Given the description of an element on the screen output the (x, y) to click on. 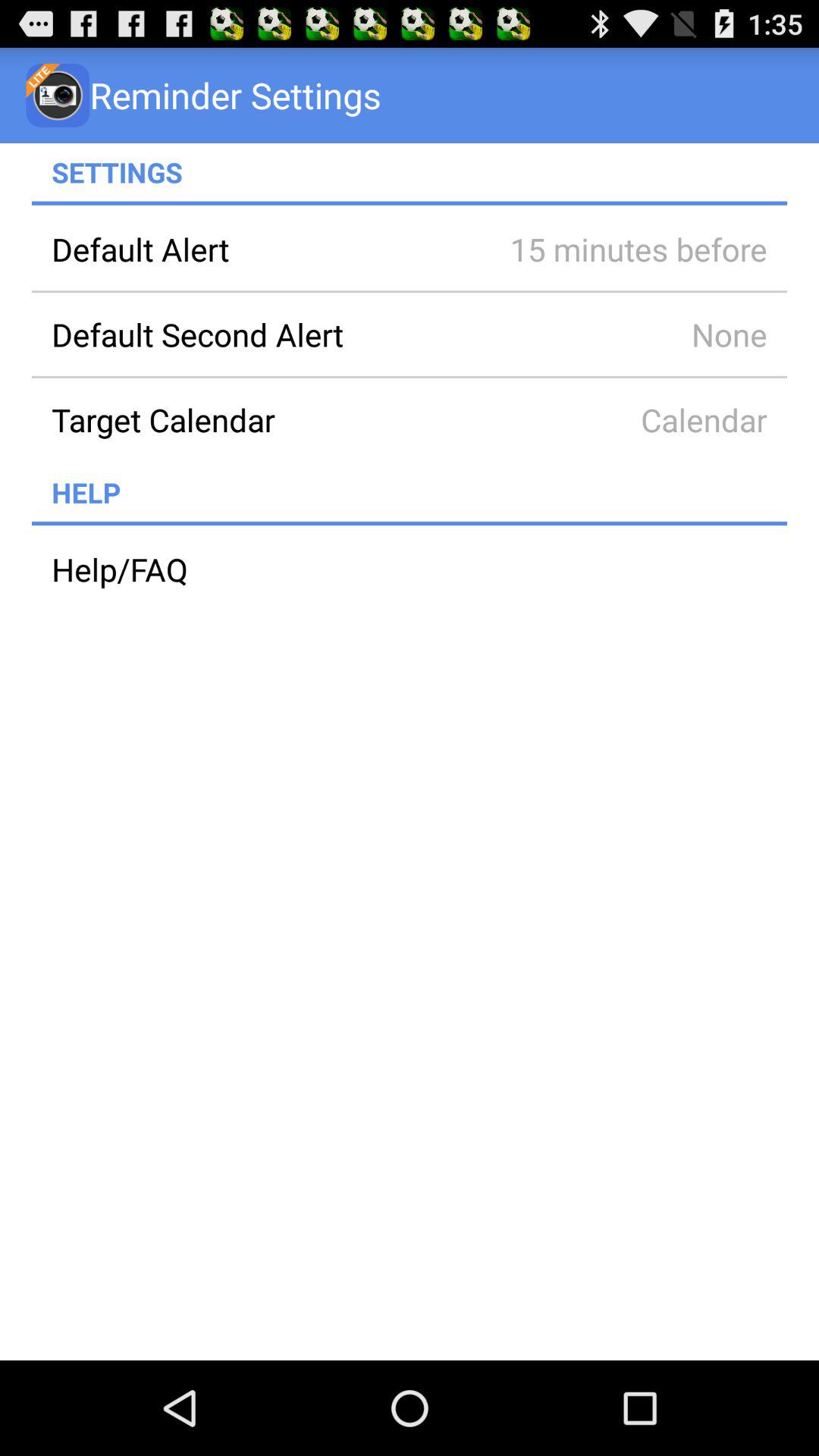
scroll to help/faq (409, 568)
